Given the description of an element on the screen output the (x, y) to click on. 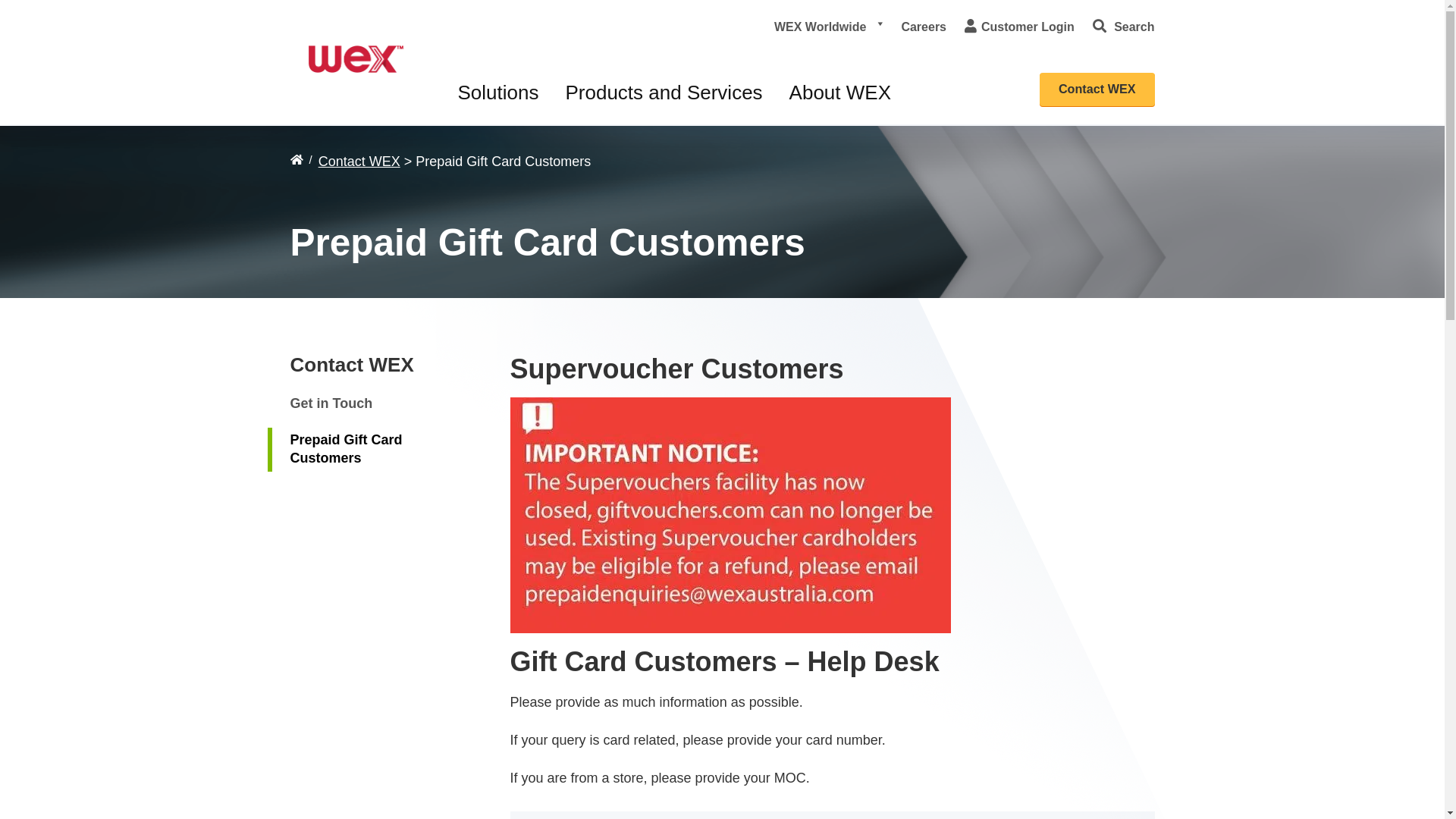
WEX Worldwide Element type: text (828, 27)
Careers Element type: text (923, 27)
Prepaid Gift Card Customers Element type: text (377, 449)
Search Element type: text (1123, 27)
Contact WEX Element type: text (359, 161)
Products and Services Element type: text (663, 92)
Customer Login Element type: text (1019, 27)
Get in Touch Element type: text (330, 404)
Contact WEX Element type: text (1096, 89)
Solutions Element type: text (498, 92)
Contact WEX Element type: text (351, 364)
About WEX Element type: text (840, 92)
Go to WEX Inc.. Element type: hover (295, 159)
